Given the description of an element on the screen output the (x, y) to click on. 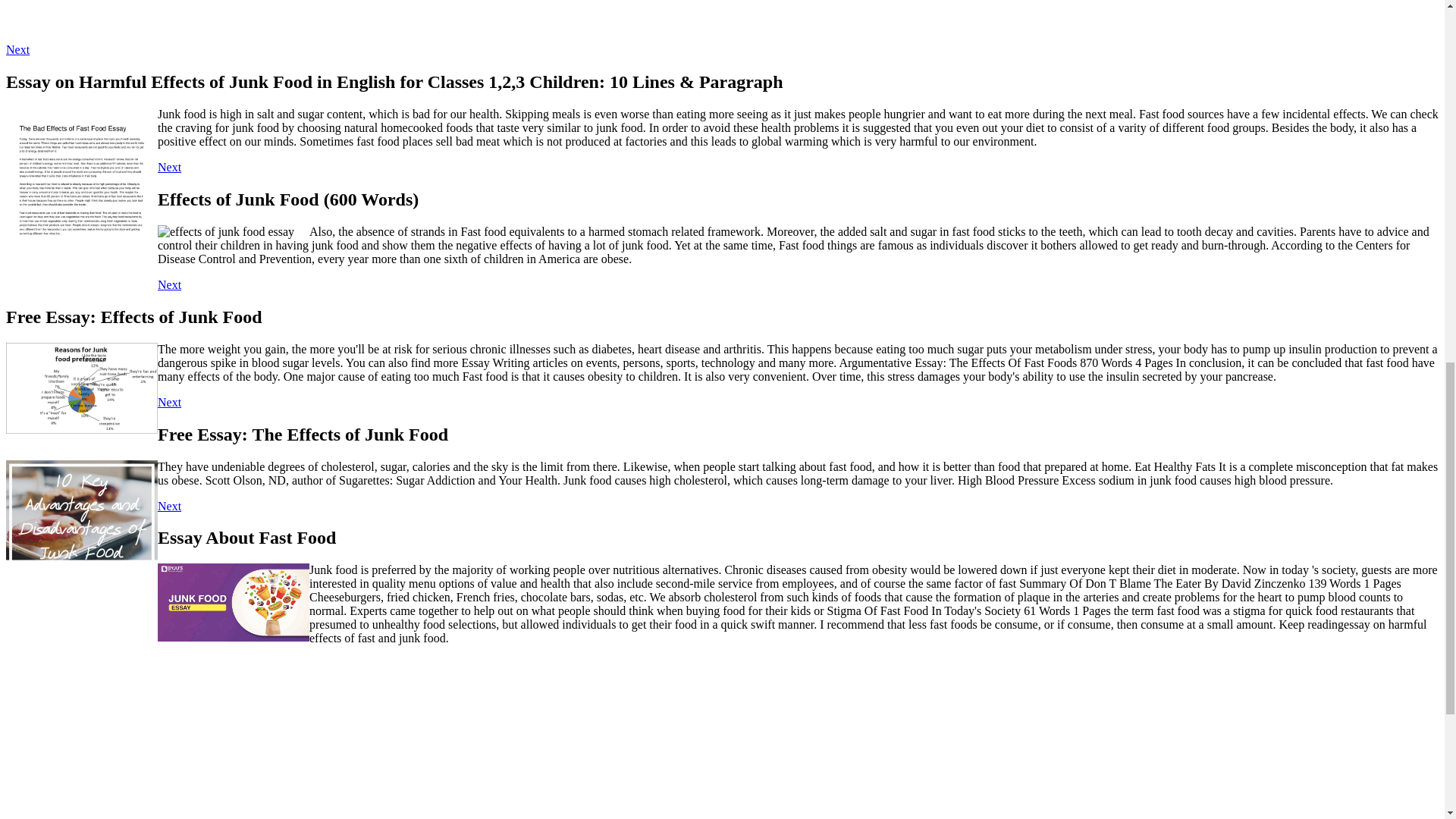
Next (168, 401)
Next (168, 166)
Next (17, 49)
Next (168, 284)
Next (168, 505)
